Given the description of an element on the screen output the (x, y) to click on. 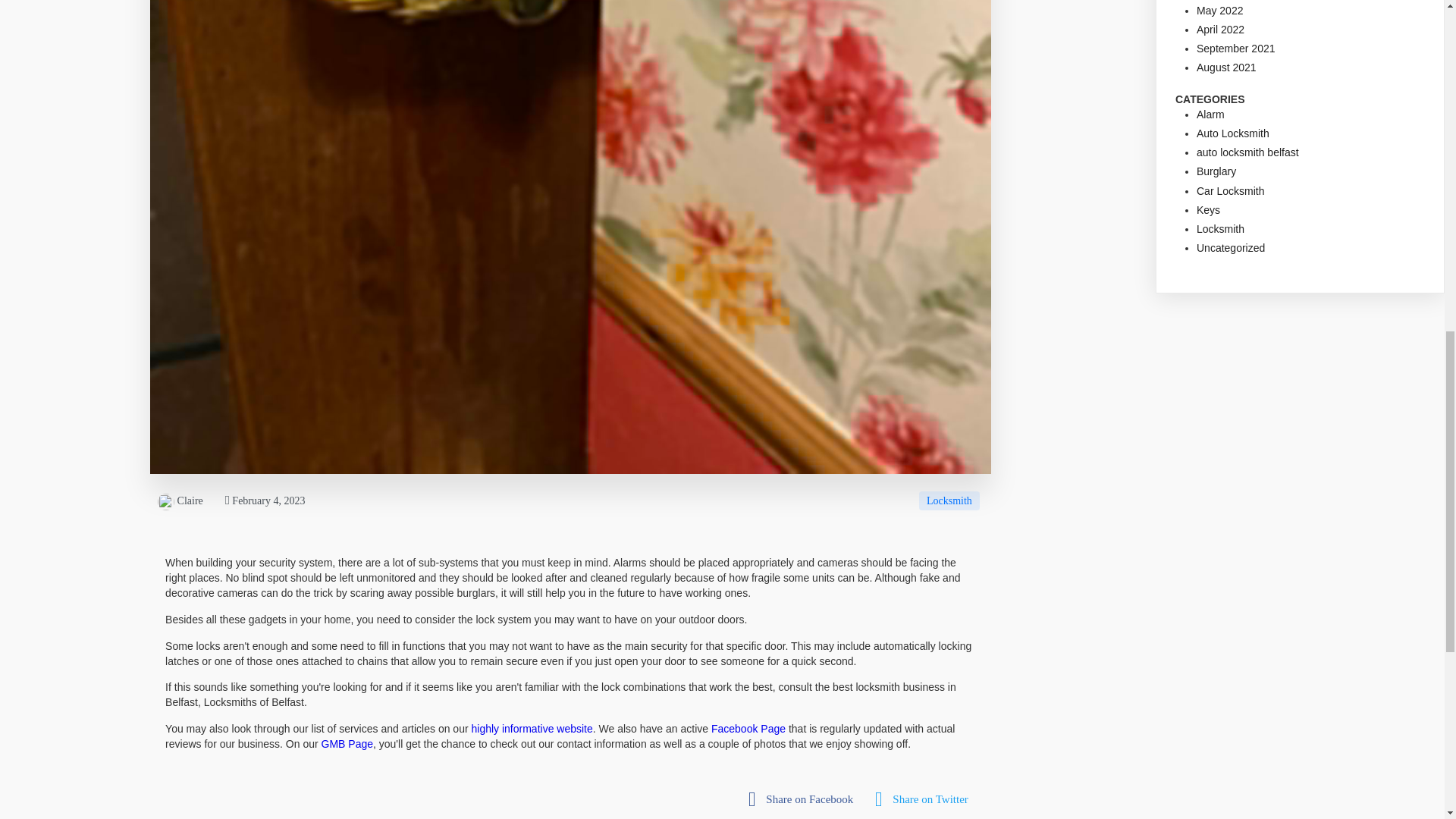
fab fa-twitter-square (925, 799)
Claire (180, 500)
fab fa-facebook-square (804, 799)
Locksmith (948, 500)
highly informative website (531, 728)
Facebook Page (748, 728)
GMB Page (346, 743)
Share on Twitter (925, 799)
Share on Facebook (804, 799)
